Given the description of an element on the screen output the (x, y) to click on. 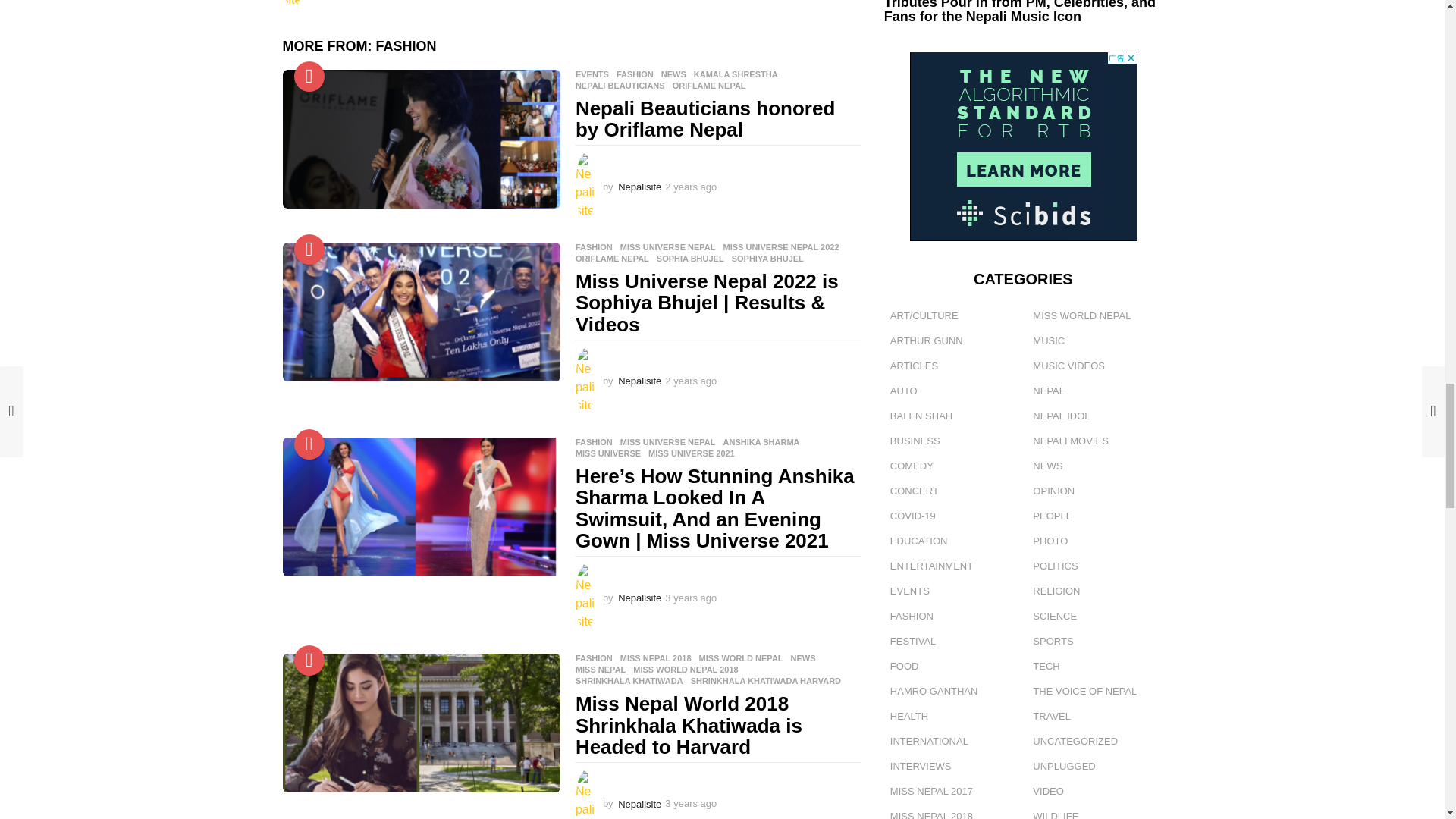
Trending (309, 249)
Trending (309, 660)
Nepali Beauticians honored by Oriflame Nepal (420, 138)
Trending (309, 444)
Trending (309, 76)
